Given the description of an element on the screen output the (x, y) to click on. 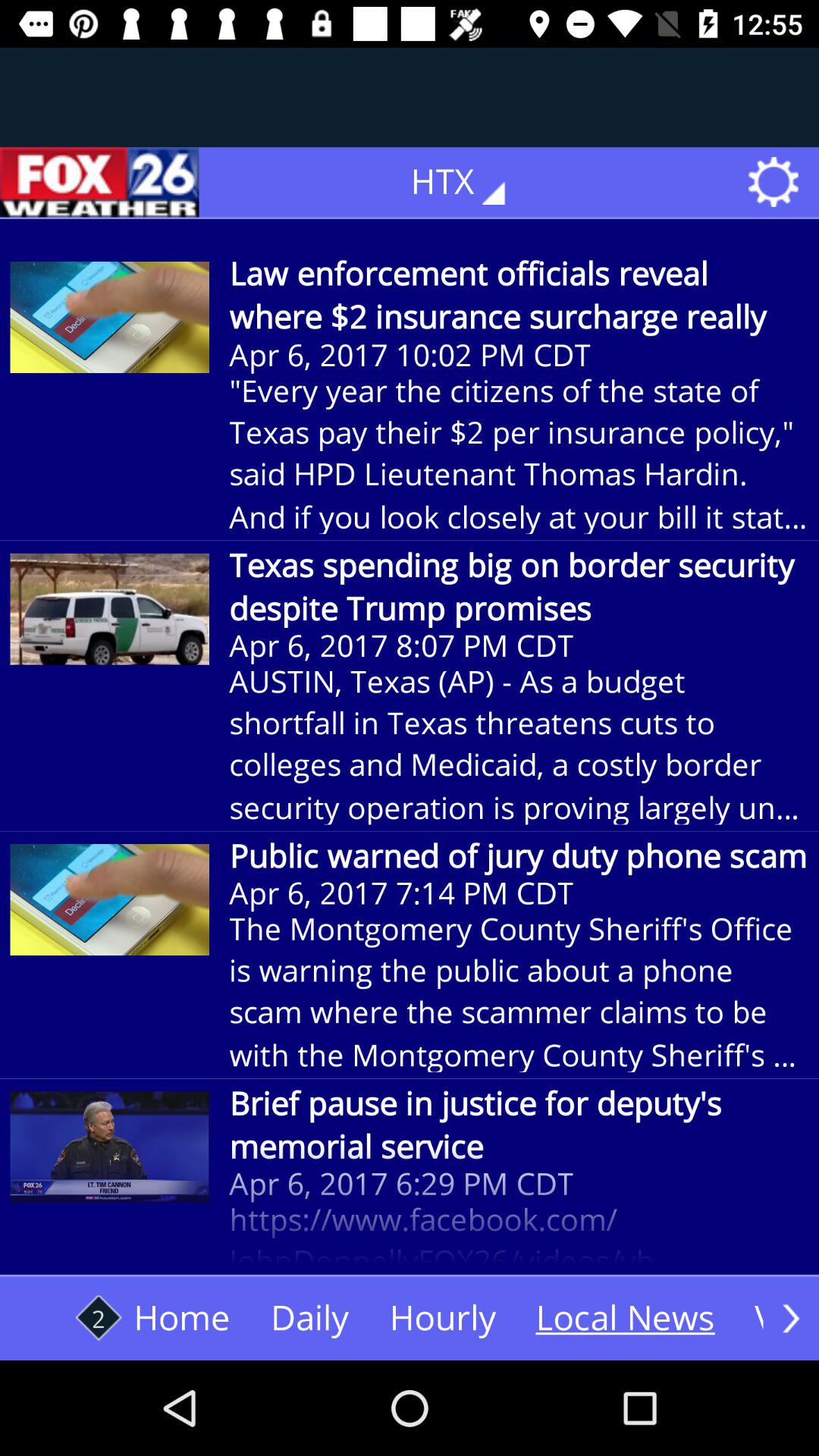
swipe until htx item (468, 182)
